Given the description of an element on the screen output the (x, y) to click on. 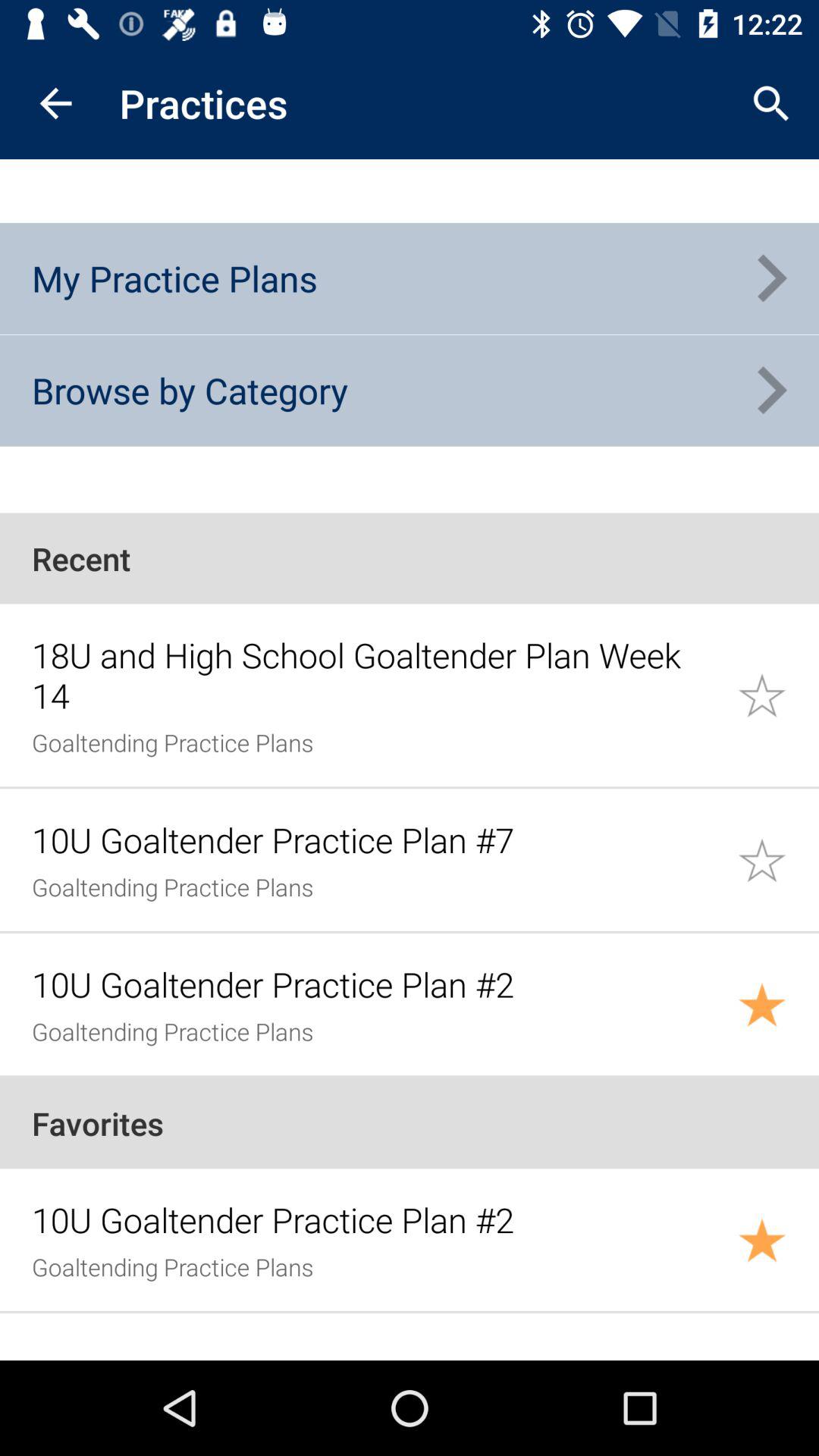
turn off the recent (409, 558)
